Given the description of an element on the screen output the (x, y) to click on. 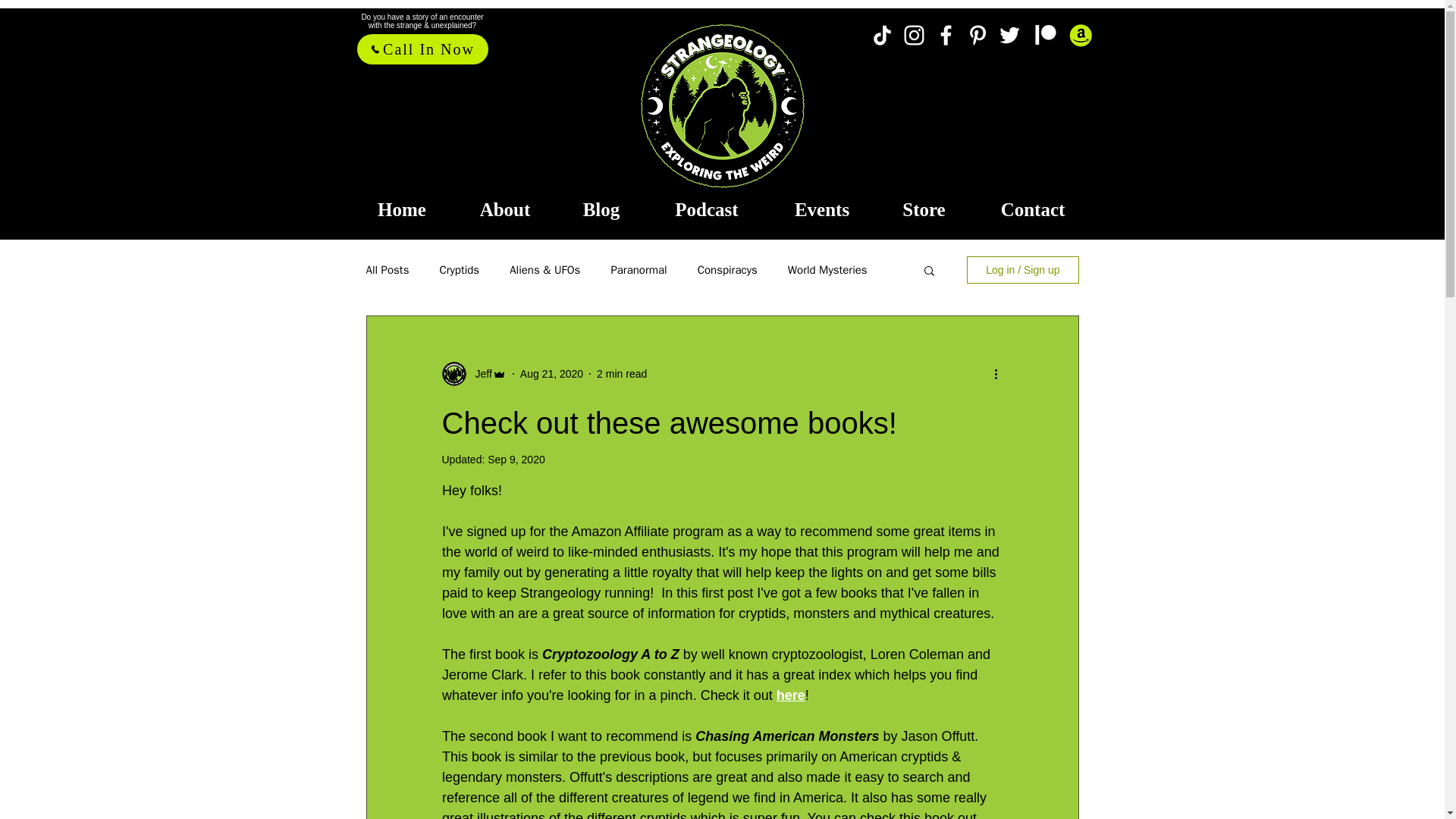
Sep 9, 2020 (515, 459)
Call In Now (421, 49)
About (504, 209)
Contact (1033, 209)
All Posts (387, 269)
World Mysteries (827, 269)
Cryptids (459, 269)
Conspiracys (727, 269)
Home (401, 209)
Store (924, 209)
Events (821, 209)
Aug 21, 2020 (551, 372)
here (790, 694)
Jeff (478, 373)
Paranormal (638, 269)
